Given the description of an element on the screen output the (x, y) to click on. 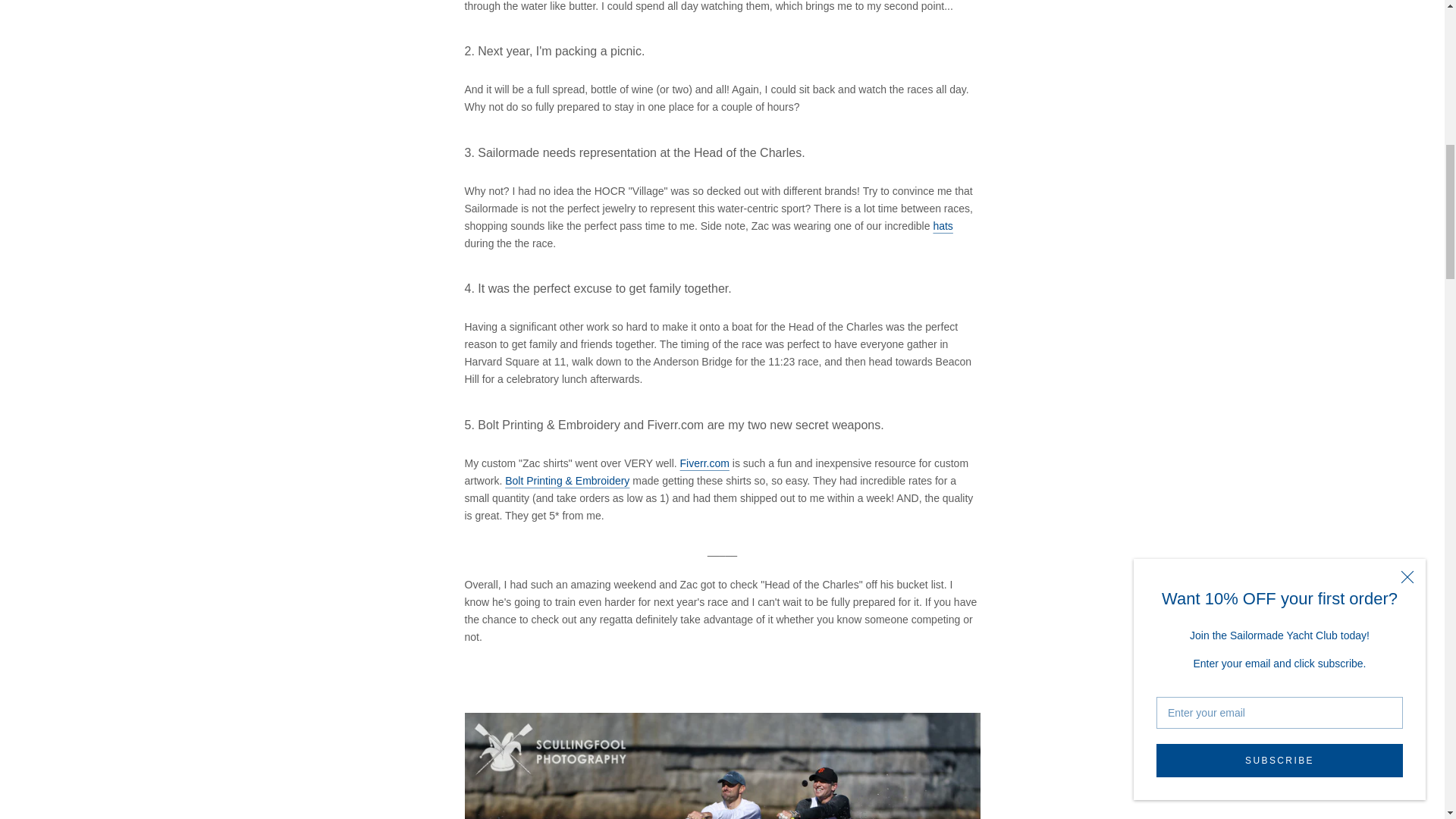
fiverr.com (704, 463)
sailormade hat (942, 225)
bolt printing and embroidery (566, 480)
